Given the description of an element on the screen output the (x, y) to click on. 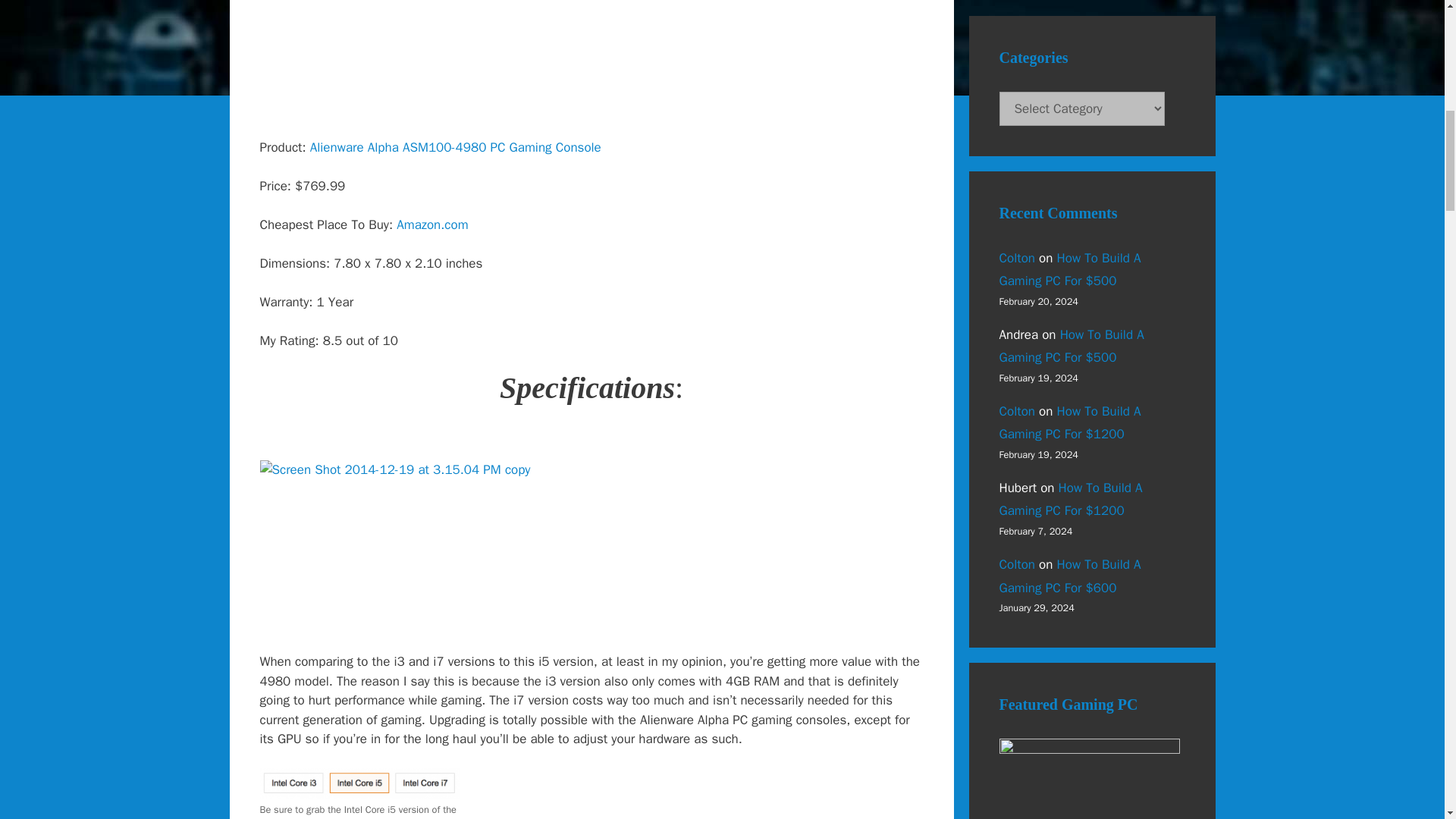
Amazon.com (431, 224)
Alienware Alpha ASM100-4980 PC Gaming Console (455, 147)
